Given the description of an element on the screen output the (x, y) to click on. 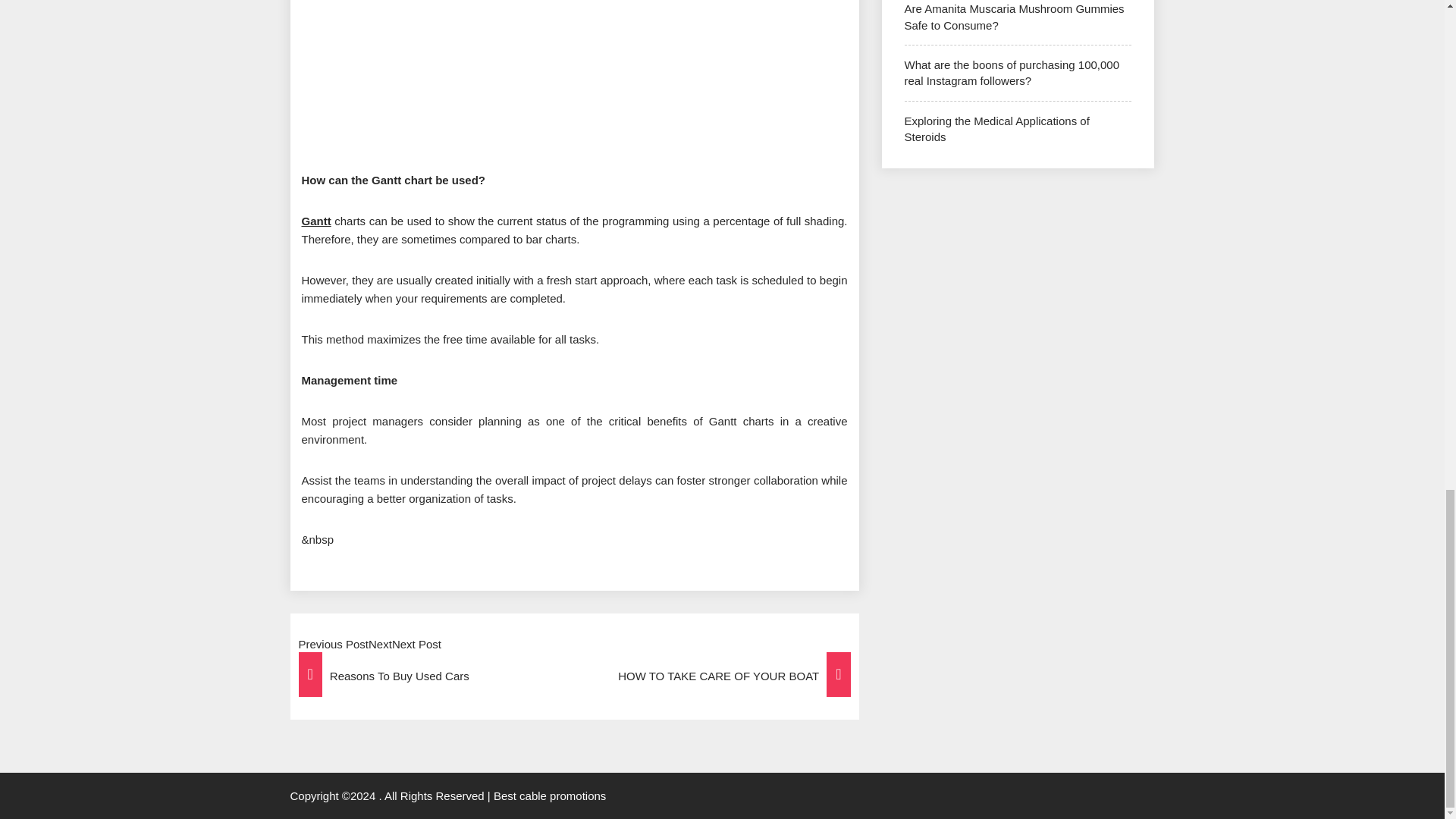
Are Amanita Muscaria Mushroom Gummies Safe to Consume? (1014, 16)
Gantt (316, 220)
Exploring the Medical Applications of Steroids (996, 128)
